Given the description of an element on the screen output the (x, y) to click on. 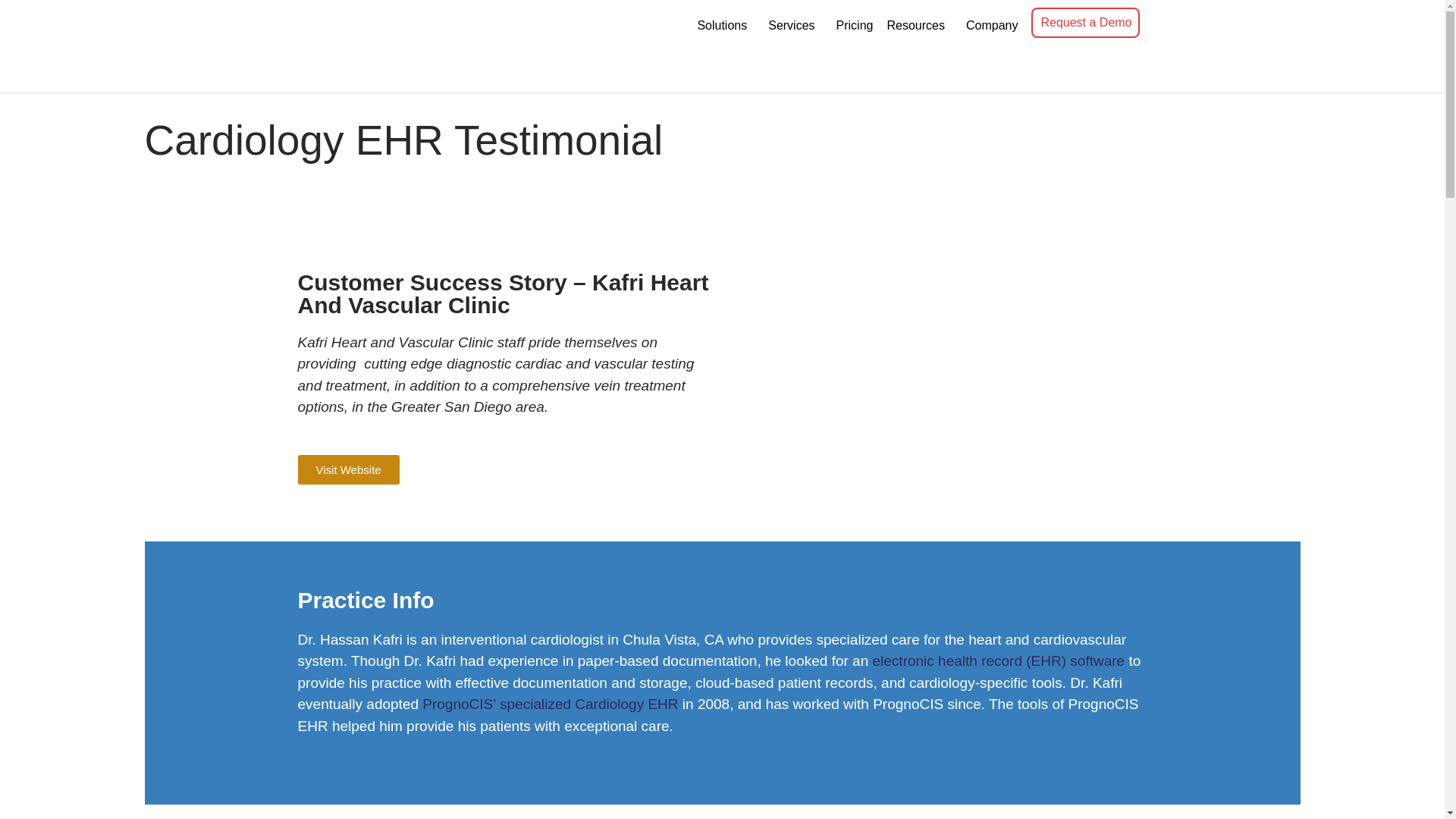
Request a Demo (1084, 22)
Company (994, 25)
Services (794, 25)
Solutions (724, 25)
Pricing (853, 25)
Resources (918, 25)
Visit Website (347, 469)
